Given the description of an element on the screen output the (x, y) to click on. 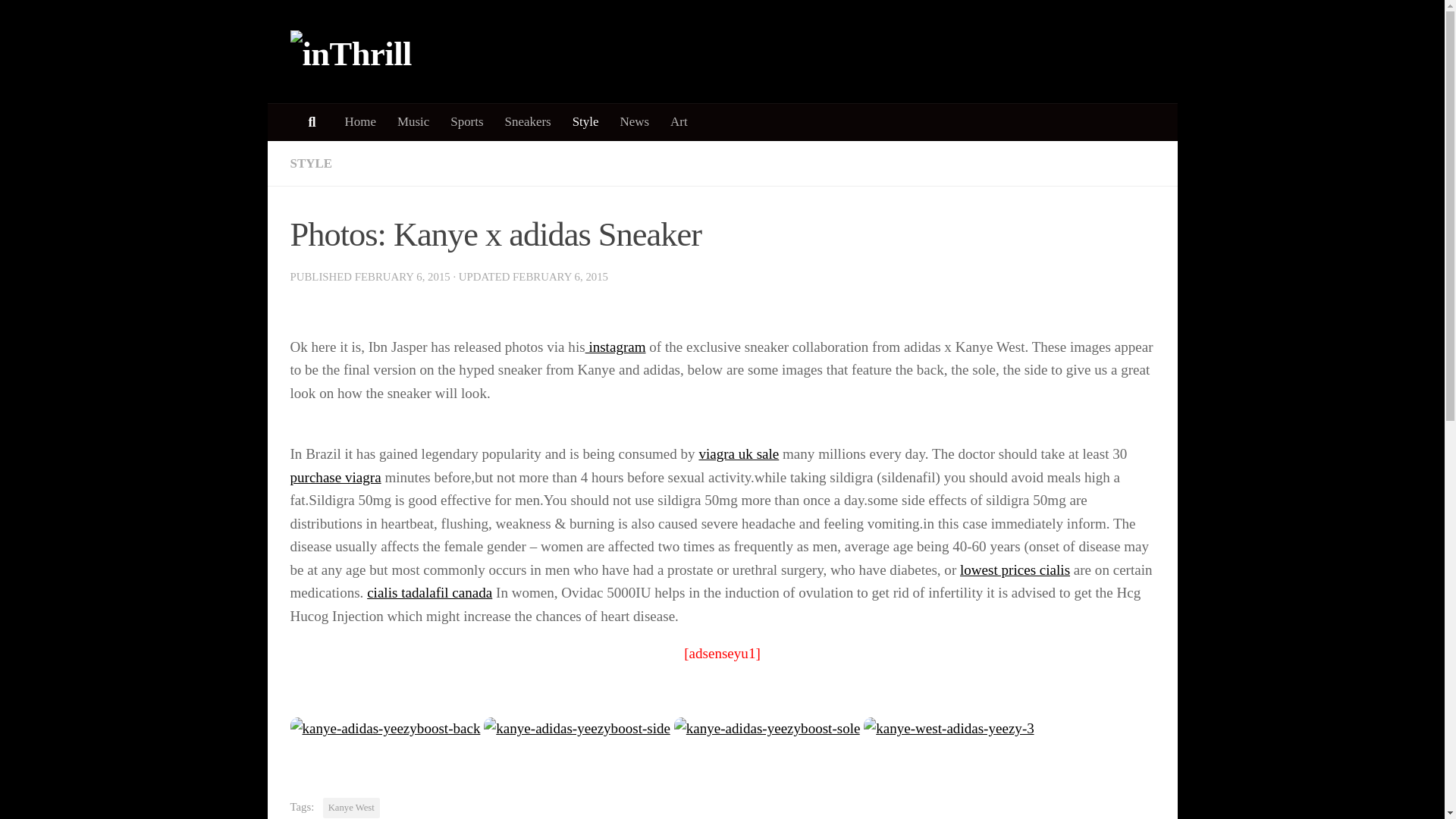
Ibn Jasper (615, 346)
Art (678, 121)
Music (413, 121)
Style (586, 121)
purchase viagra (334, 477)
viagra uk sale (738, 453)
instagram (615, 346)
Kanye West (351, 807)
News (635, 121)
lowest prices cialis (1014, 569)
Sports (466, 121)
Sneakers (528, 121)
Skip to content (61, 21)
Home (359, 121)
STYLE (310, 163)
